Given the description of an element on the screen output the (x, y) to click on. 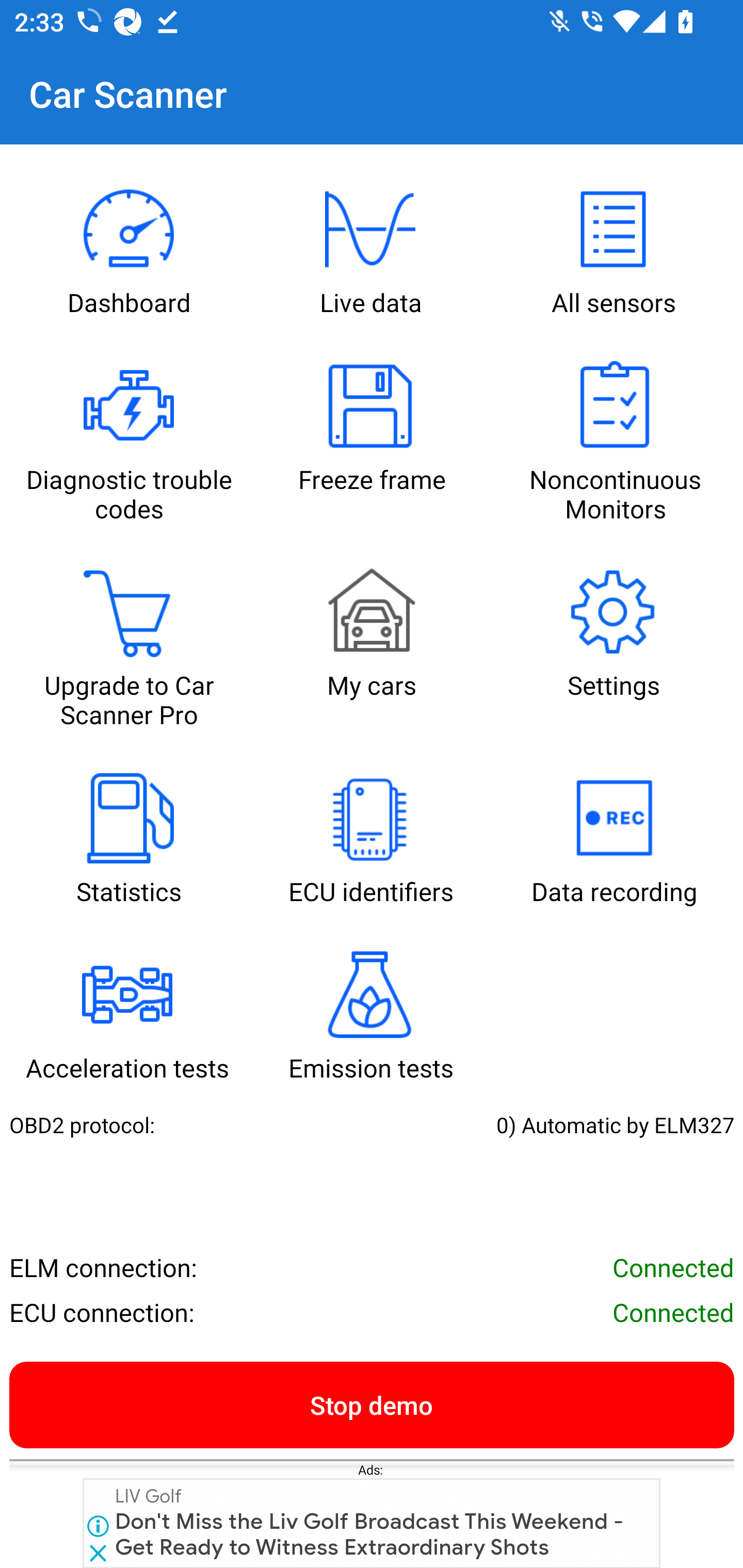
Stop demo (371, 1404)
LIV Golf (149, 1496)
